Given the description of an element on the screen output the (x, y) to click on. 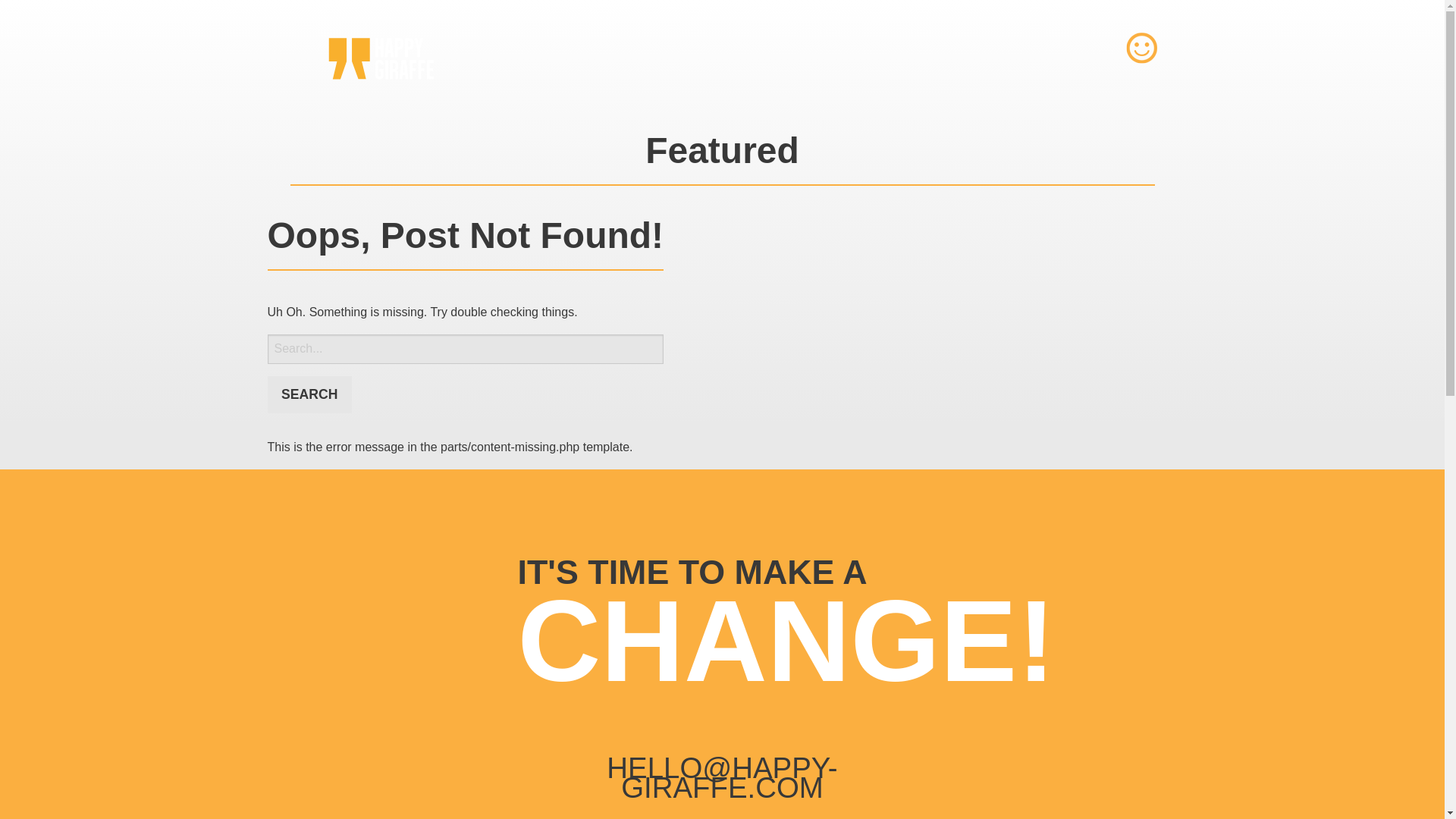
Search for: (464, 348)
Search (308, 394)
Search (308, 394)
Happy Giraffe Group Limited (381, 58)
Search (308, 394)
